Given the description of an element on the screen output the (x, y) to click on. 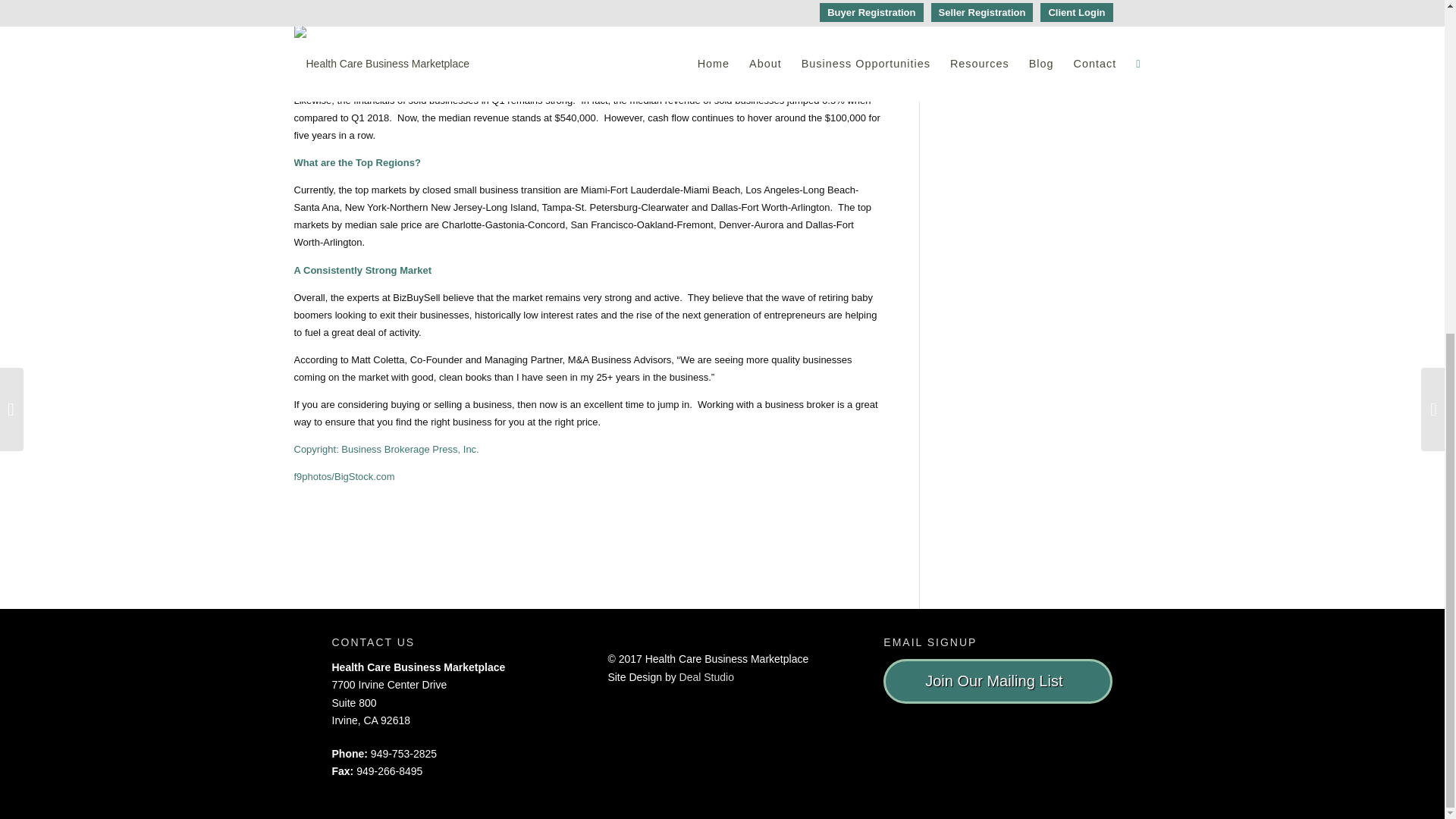
Join Our Mailing List   (997, 681)
Copyright: Business Brokerage Press, Inc. (386, 449)
Deal Studio (706, 676)
